Given the description of an element on the screen output the (x, y) to click on. 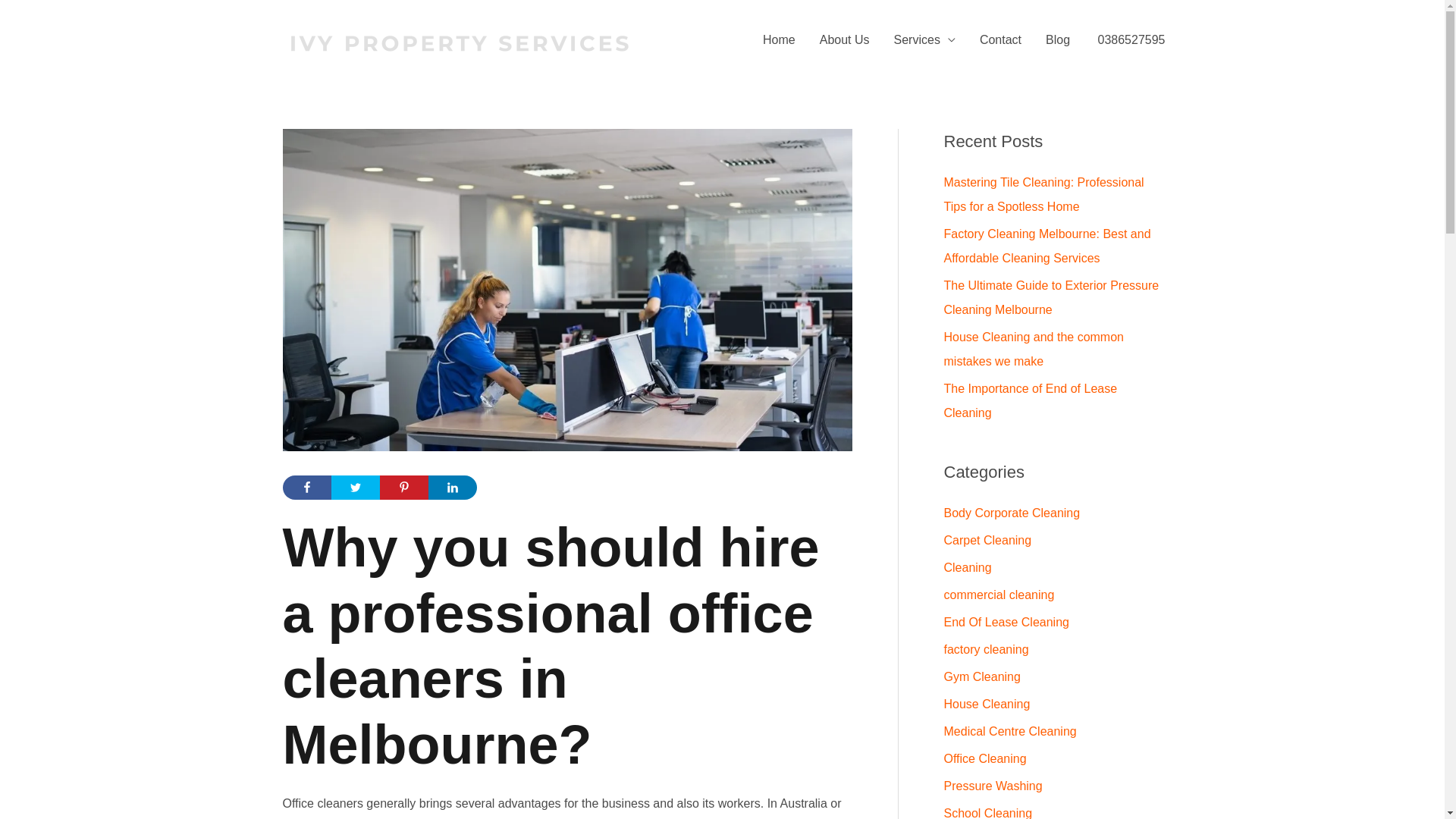
House Cleaning and the common mistakes we make Element type: text (1033, 348)
factory cleaning Element type: text (985, 649)
About Us Element type: text (844, 39)
Medical Centre Cleaning Element type: text (1009, 730)
Services Element type: text (924, 39)
Home Element type: text (778, 39)
commercial cleaning Element type: text (998, 594)
Share on Pinterest Element type: hover (403, 487)
Contact Element type: text (1000, 39)
Share on Twitter Element type: hover (354, 487)
Blog Element type: text (1057, 39)
Cleaning Element type: text (967, 567)
Office Cleaning Element type: text (984, 758)
End Of Lease Cleaning Element type: text (1005, 621)
Share on LinkedIn Element type: hover (451, 487)
Pressure Washing Element type: text (992, 785)
Gym Cleaning Element type: text (981, 676)
The Importance of End of Lease Cleaning Element type: text (1030, 400)
Carpet Cleaning Element type: text (987, 539)
Body Corporate Cleaning Element type: text (1011, 512)
Share on Facebook Element type: hover (306, 487)
House Cleaning Element type: text (986, 703)
The Ultimate Guide to Exterior Pressure Cleaning Melbourne Element type: text (1050, 297)
